Given the description of an element on the screen output the (x, y) to click on. 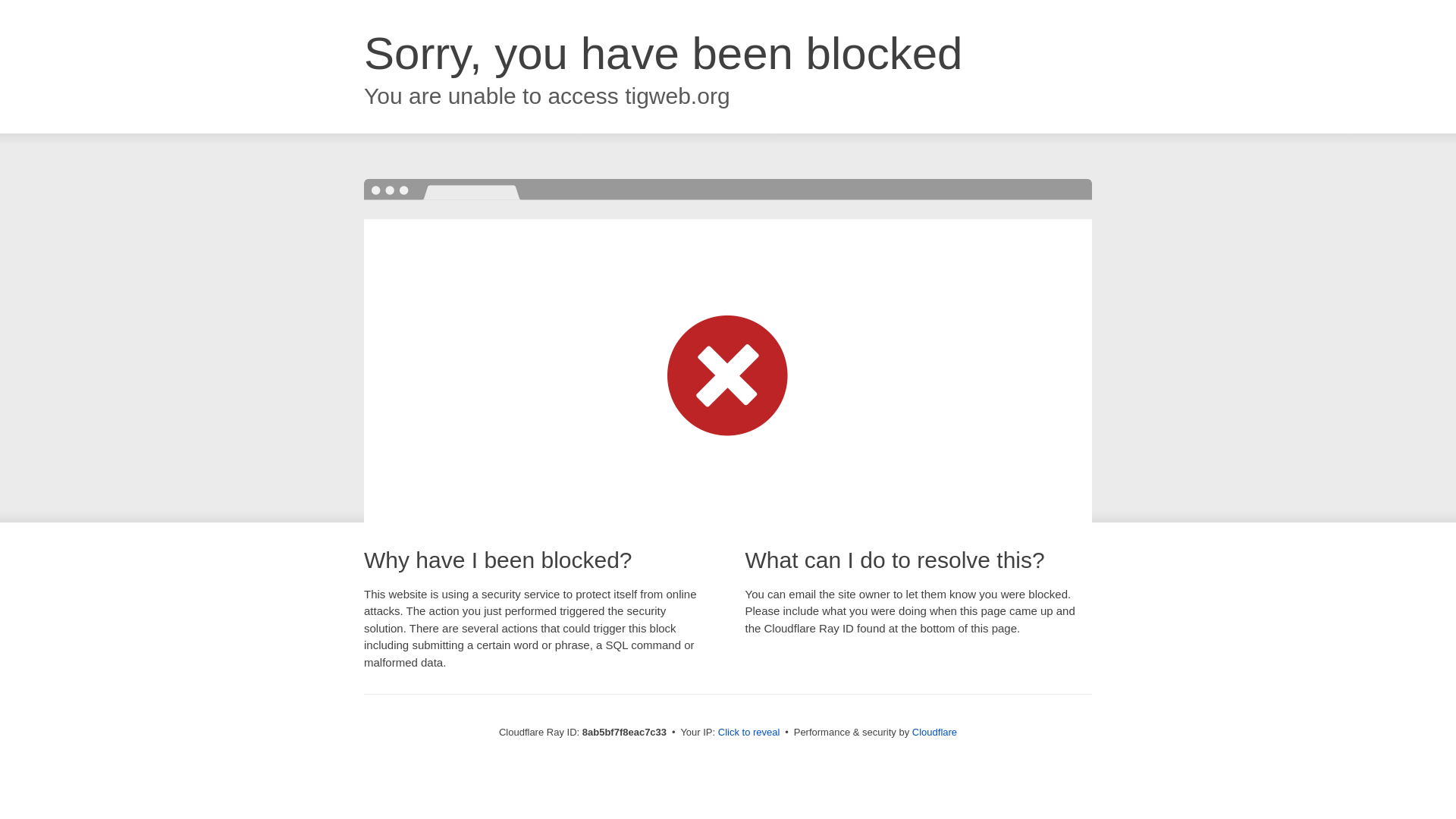
Click to reveal (748, 732)
Cloudflare (934, 731)
